Given the description of an element on the screen output the (x, y) to click on. 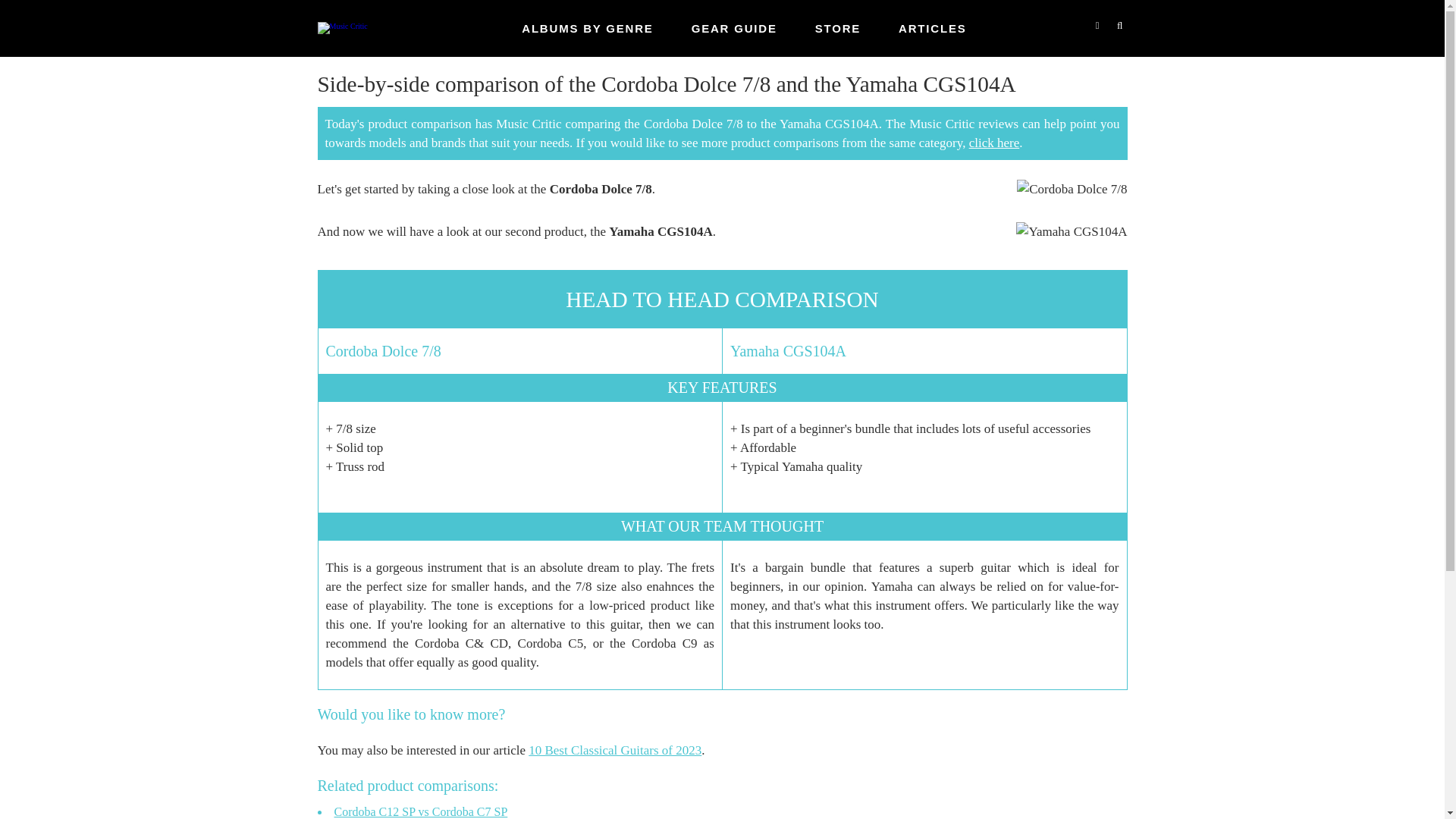
GEAR GUIDE (734, 28)
ARTICLES (932, 28)
ALBUMS BY GENRE (586, 28)
STORE (837, 28)
click here (994, 142)
